Given the description of an element on the screen output the (x, y) to click on. 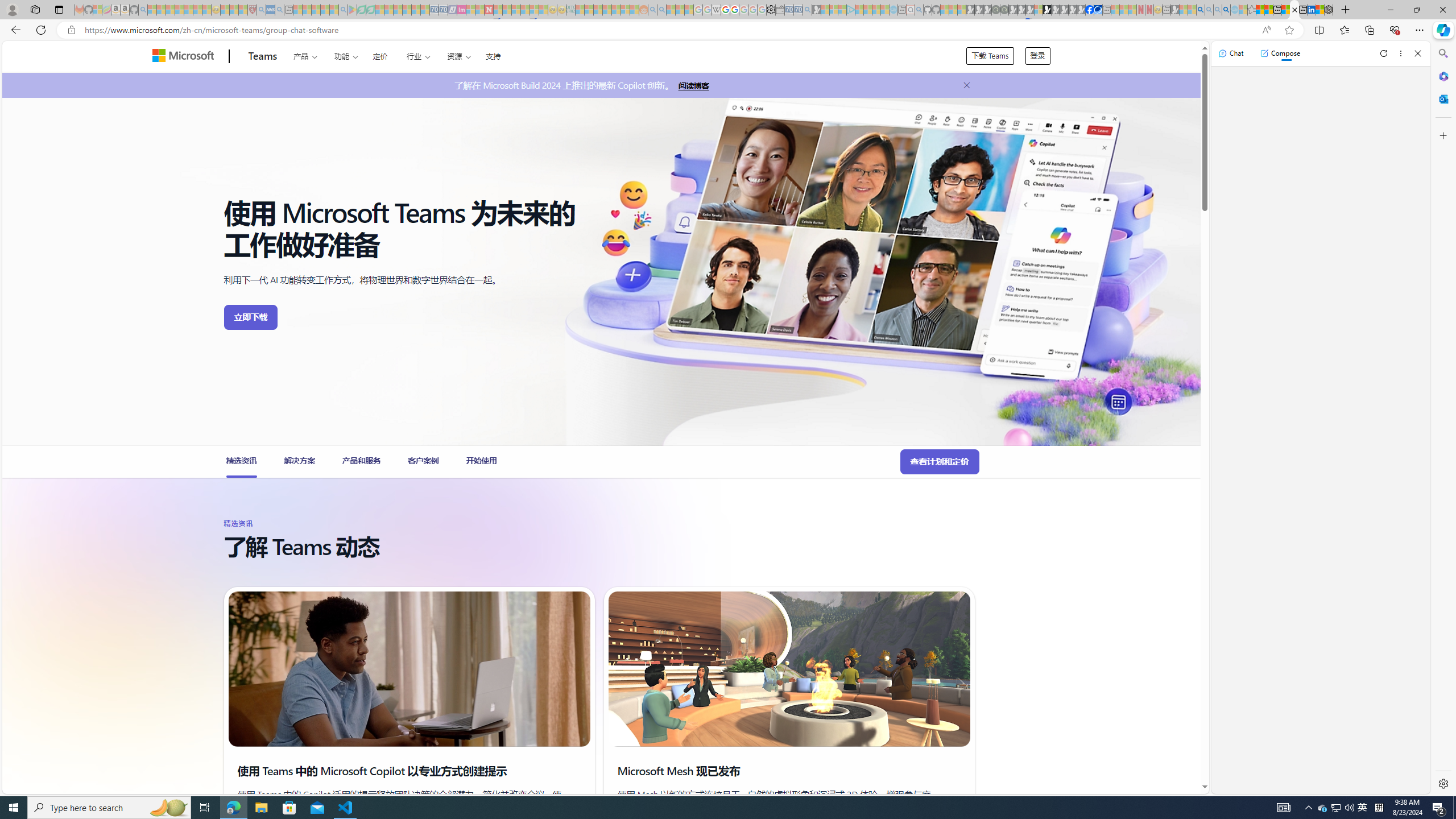
github - Search - Sleeping (919, 9)
Local - MSN - Sleeping (242, 9)
Utah sues federal government - Search - Sleeping (661, 9)
